Given the description of an element on the screen output the (x, y) to click on. 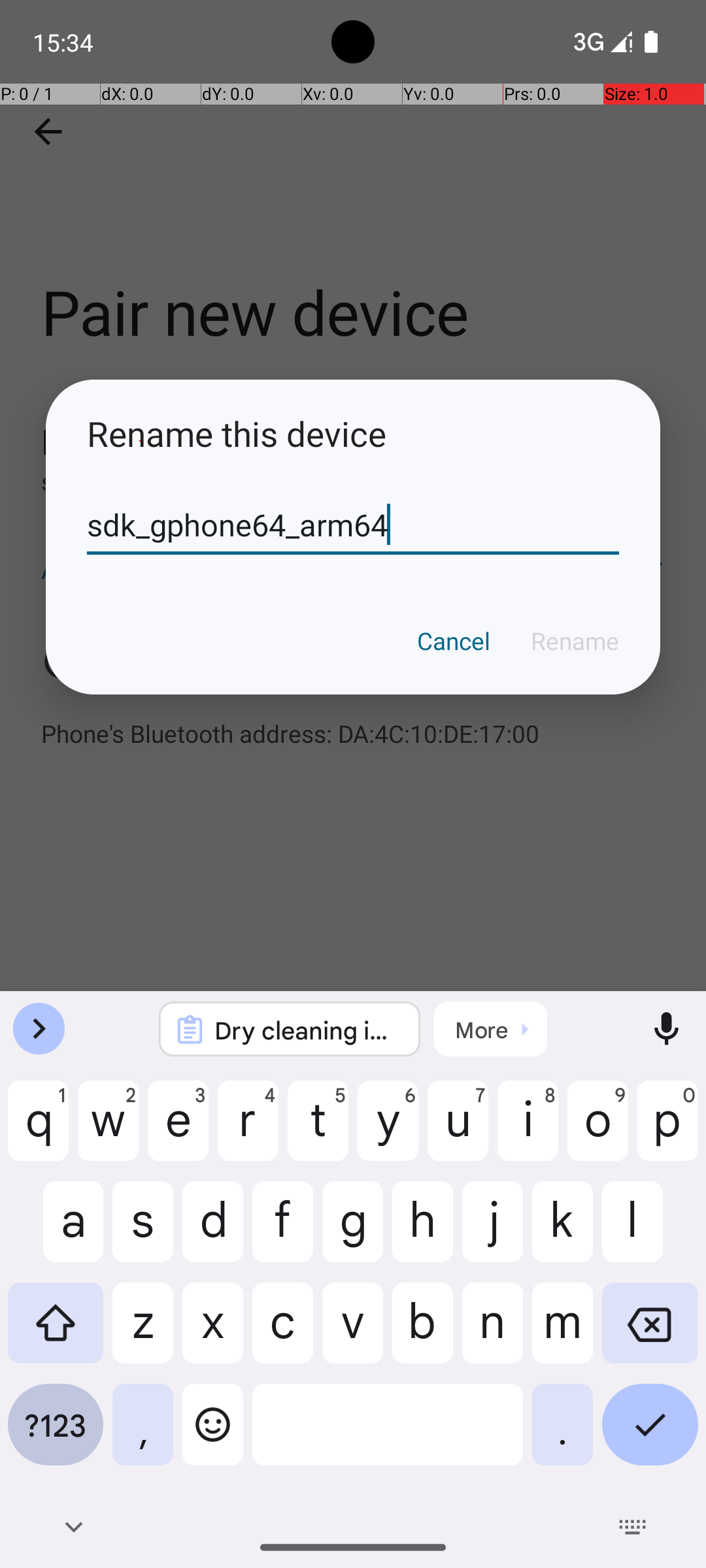
Rename this device Element type: android.widget.TextView (352, 433)
Rename Element type: android.widget.Button (574, 640)
